Given the description of an element on the screen output the (x, y) to click on. 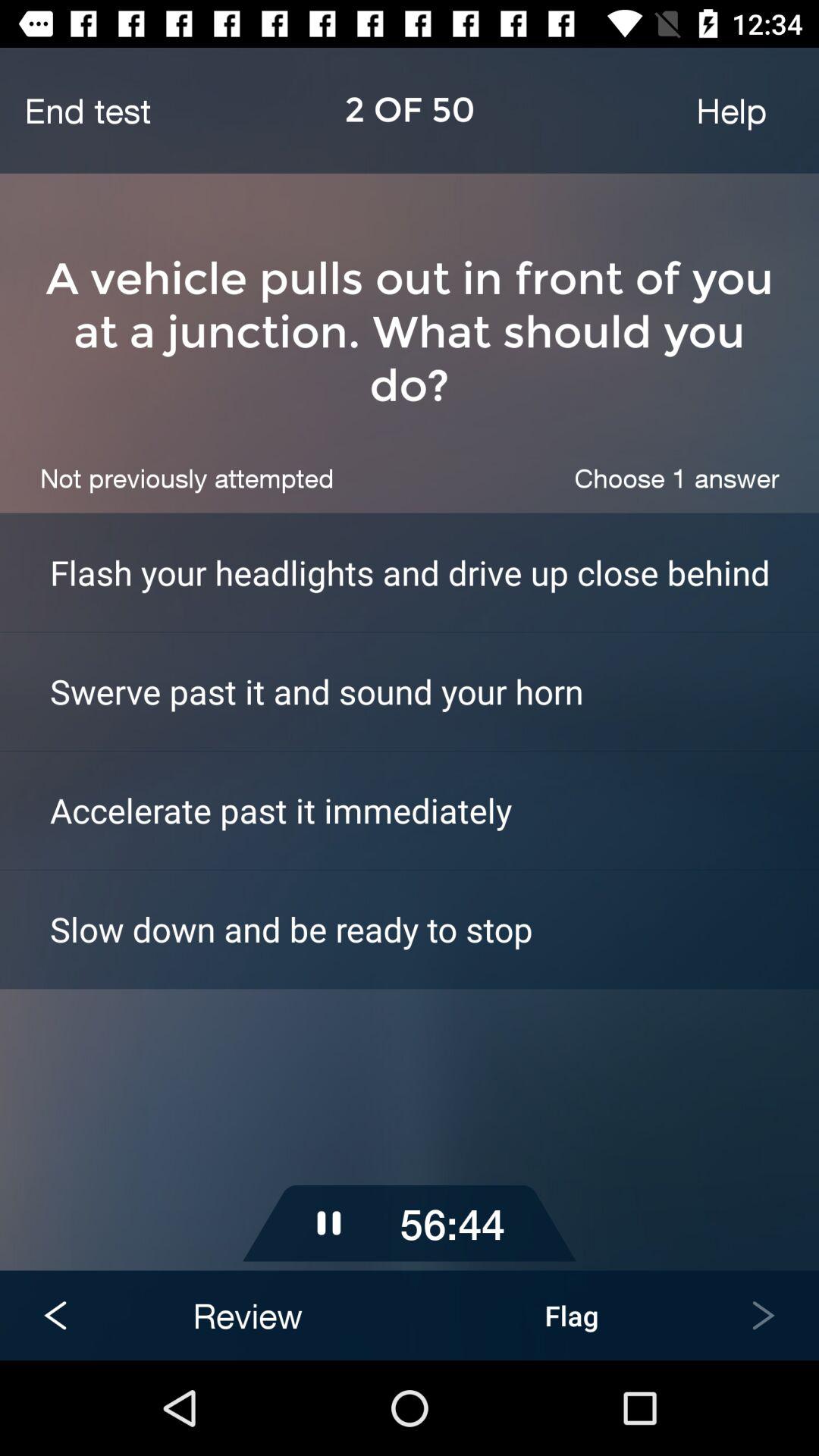
jump until the flash your headlights (434, 572)
